Given the description of an element on the screen output the (x, y) to click on. 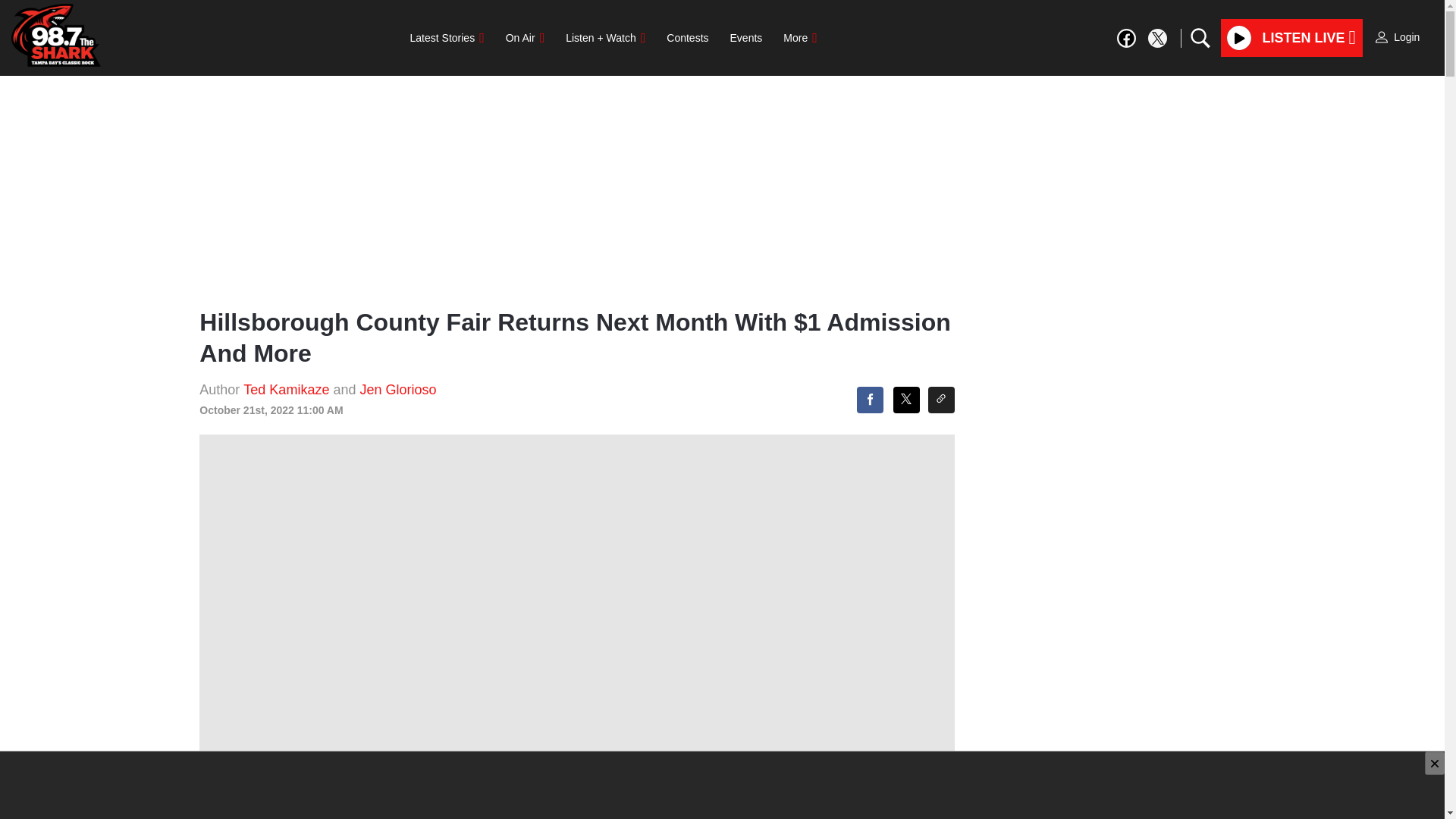
Jen Glorioso (397, 389)
Events (746, 37)
Contests (687, 37)
Ted Kamikaze (288, 389)
Latest Stories (446, 37)
Close AdCheckmark indicating ad close (1434, 763)
On Air (524, 37)
More (800, 37)
